Given the description of an element on the screen output the (x, y) to click on. 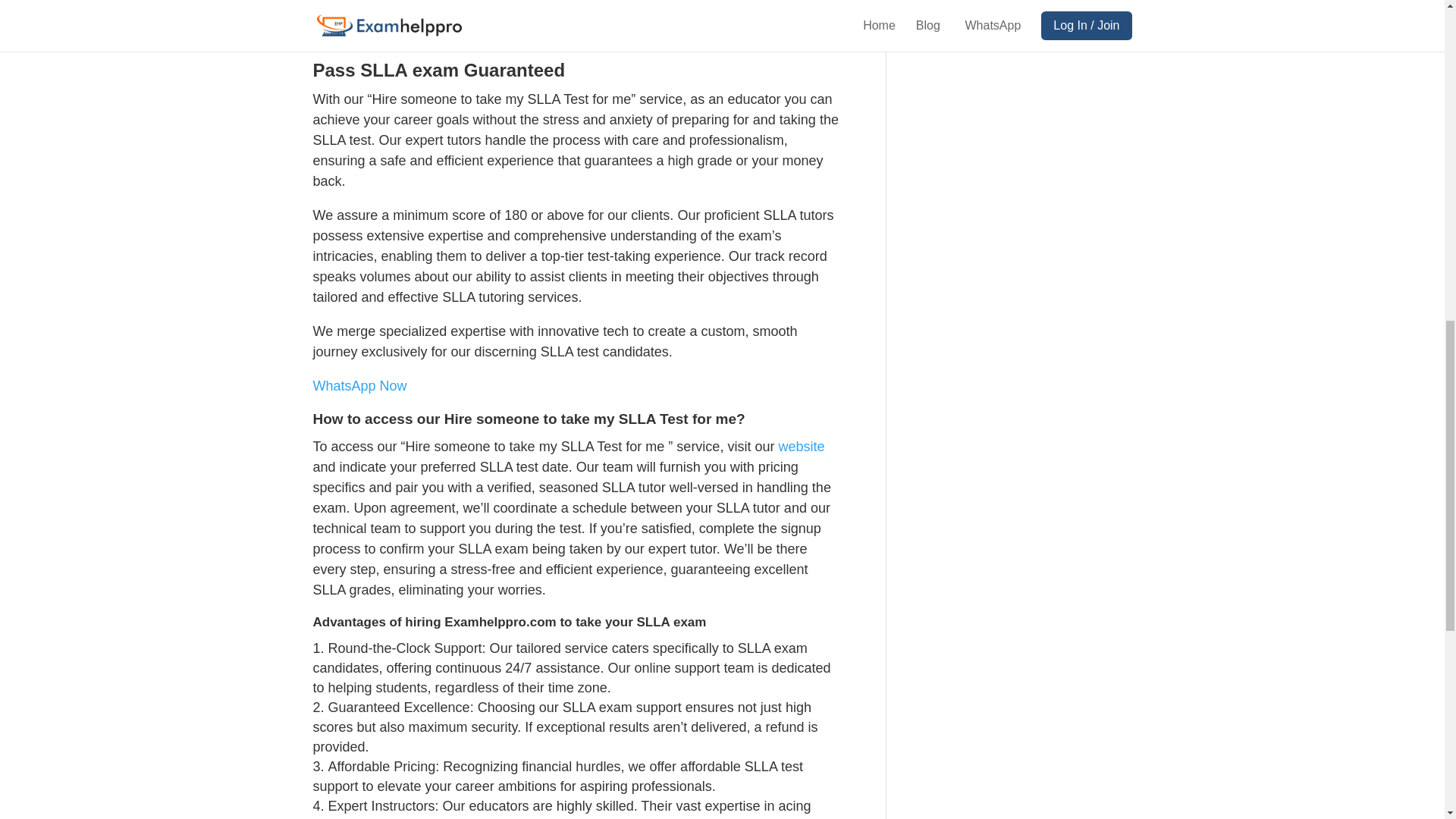
WhatsApp Now (1035, 128)
website (1083, 45)
